Given the description of an element on the screen output the (x, y) to click on. 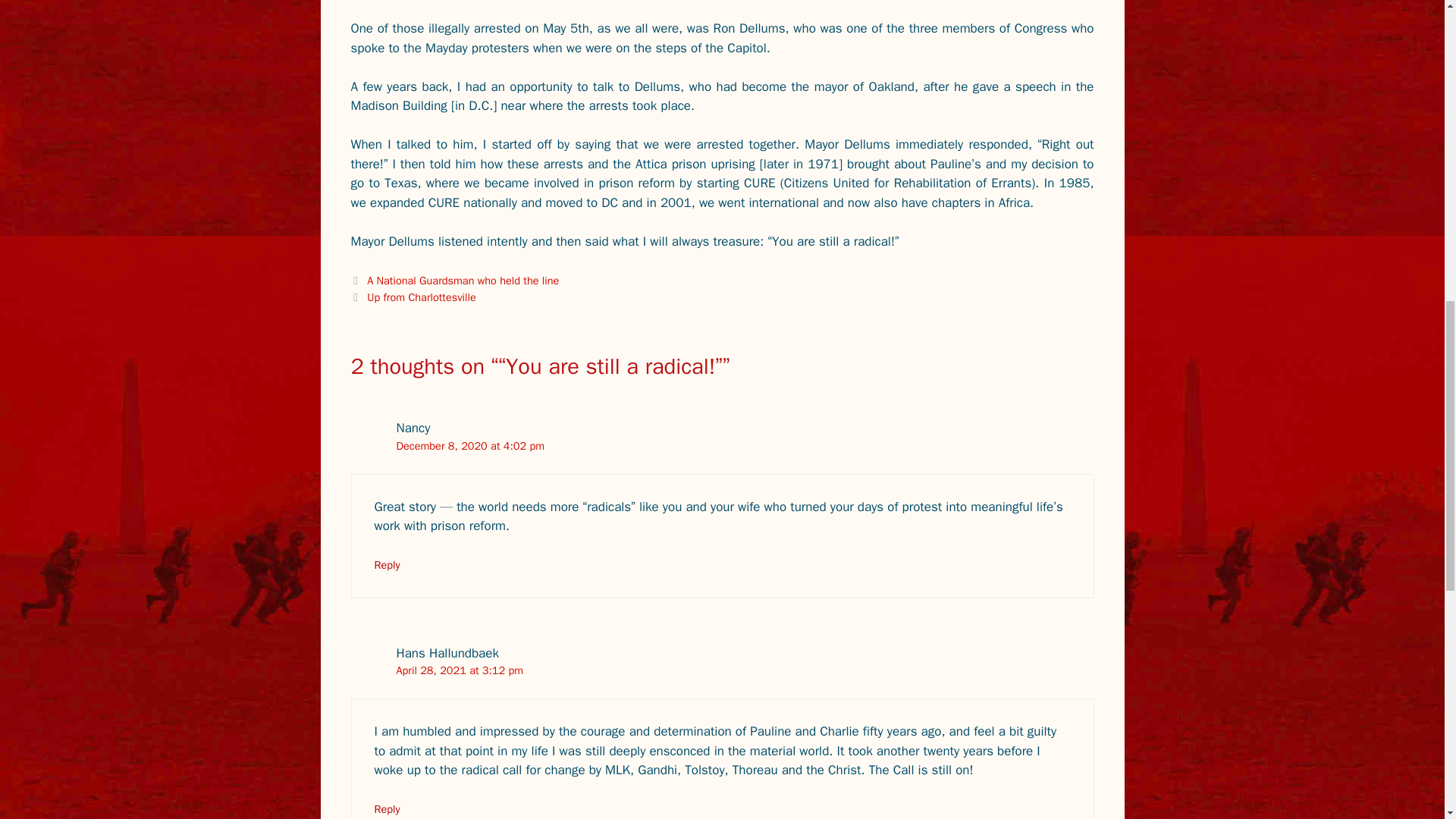
April 28, 2021 at 3:12 pm (459, 670)
December 8, 2020 at 4:02 pm (470, 445)
A National Guardsman who held the line (462, 280)
Reply (387, 564)
Up from Charlottesville (421, 296)
Reply (387, 808)
